Given the description of an element on the screen output the (x, y) to click on. 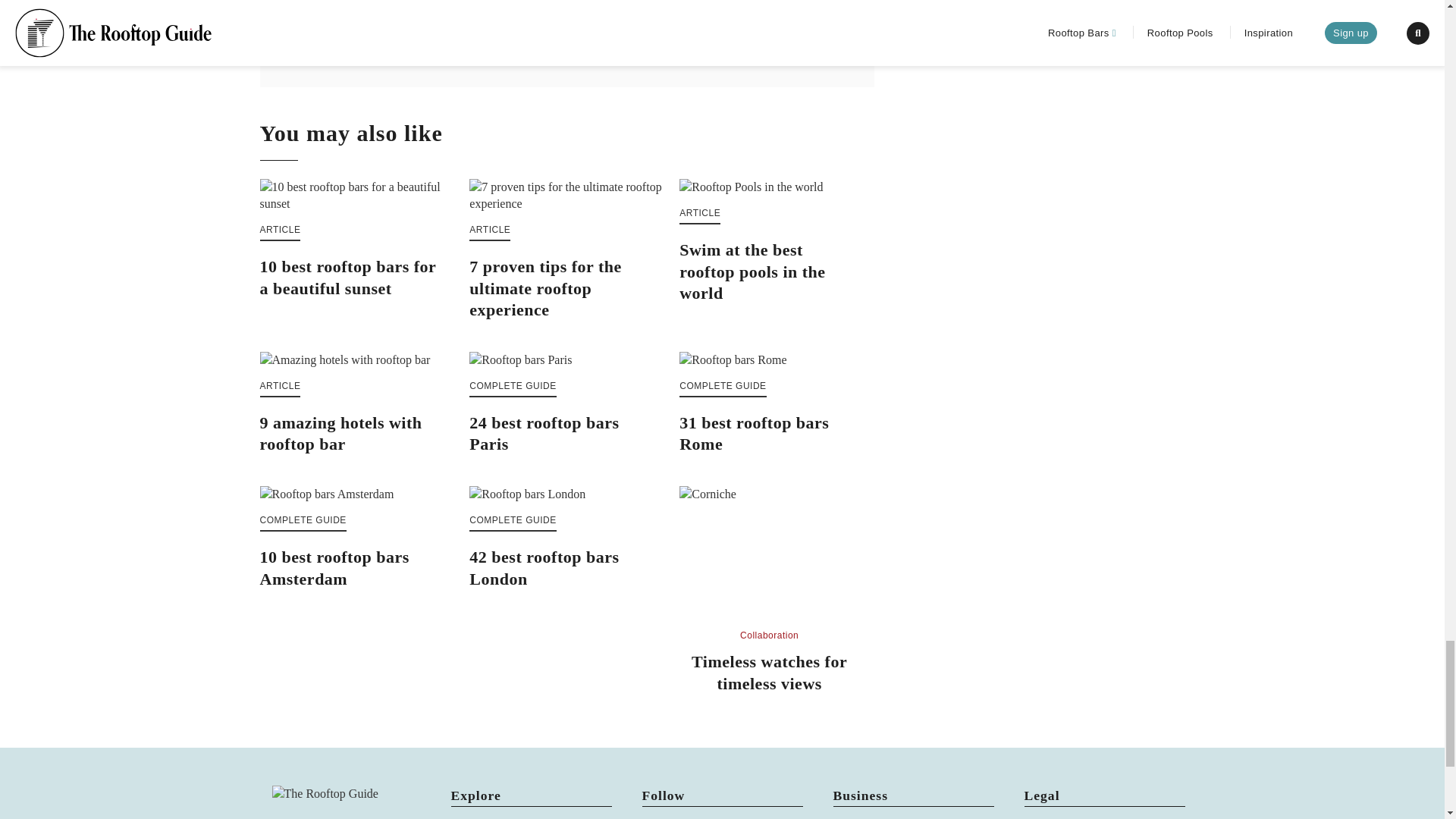
Facebook (663, 818)
